Given the description of an element on the screen output the (x, y) to click on. 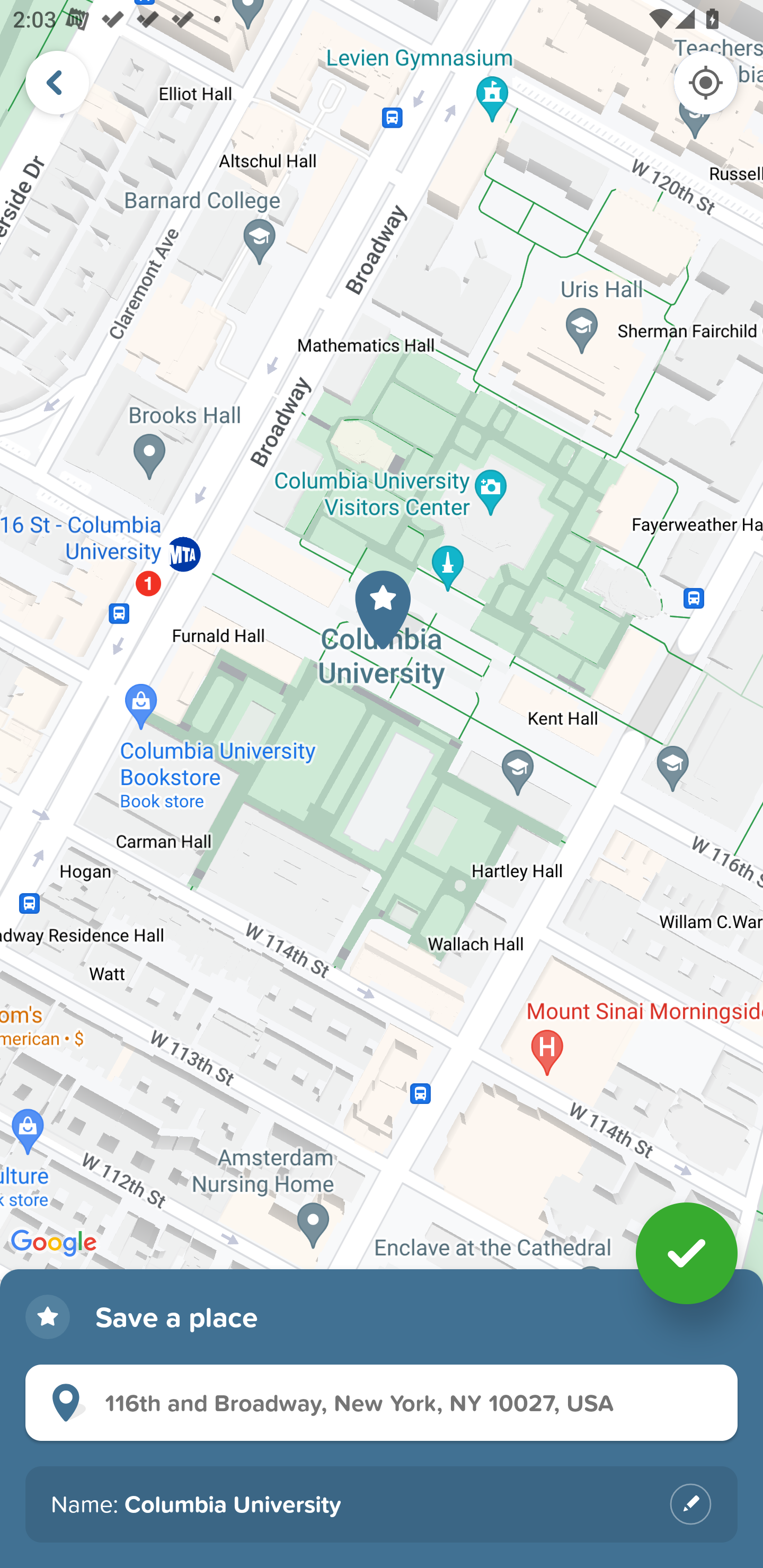
Name: Columbia University (381, 1504)
